Given the description of an element on the screen output the (x, y) to click on. 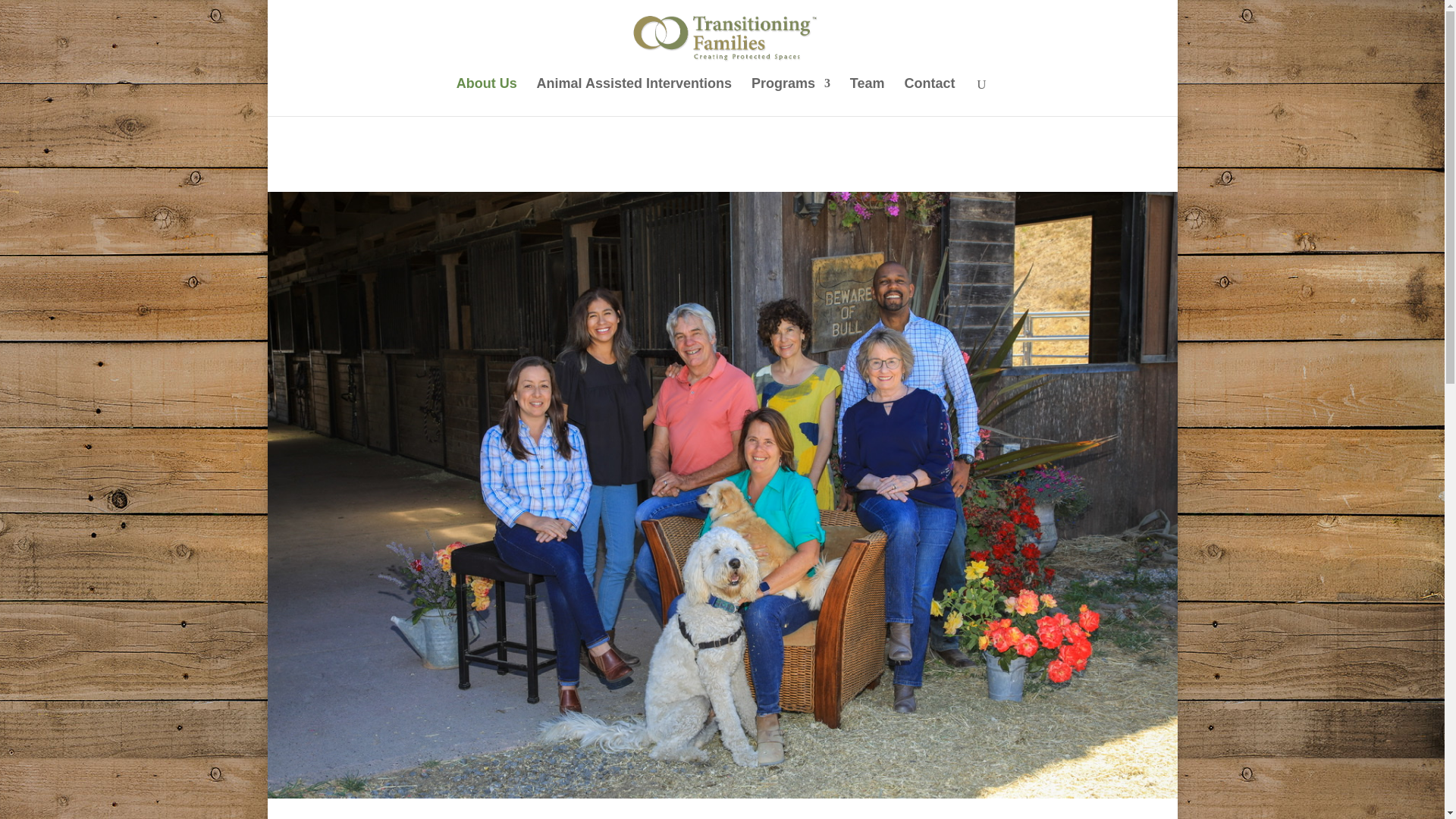
About Us (486, 96)
Contact (929, 96)
Team (867, 96)
Animal Assisted Interventions (634, 96)
Programs (790, 96)
